Given the description of an element on the screen output the (x, y) to click on. 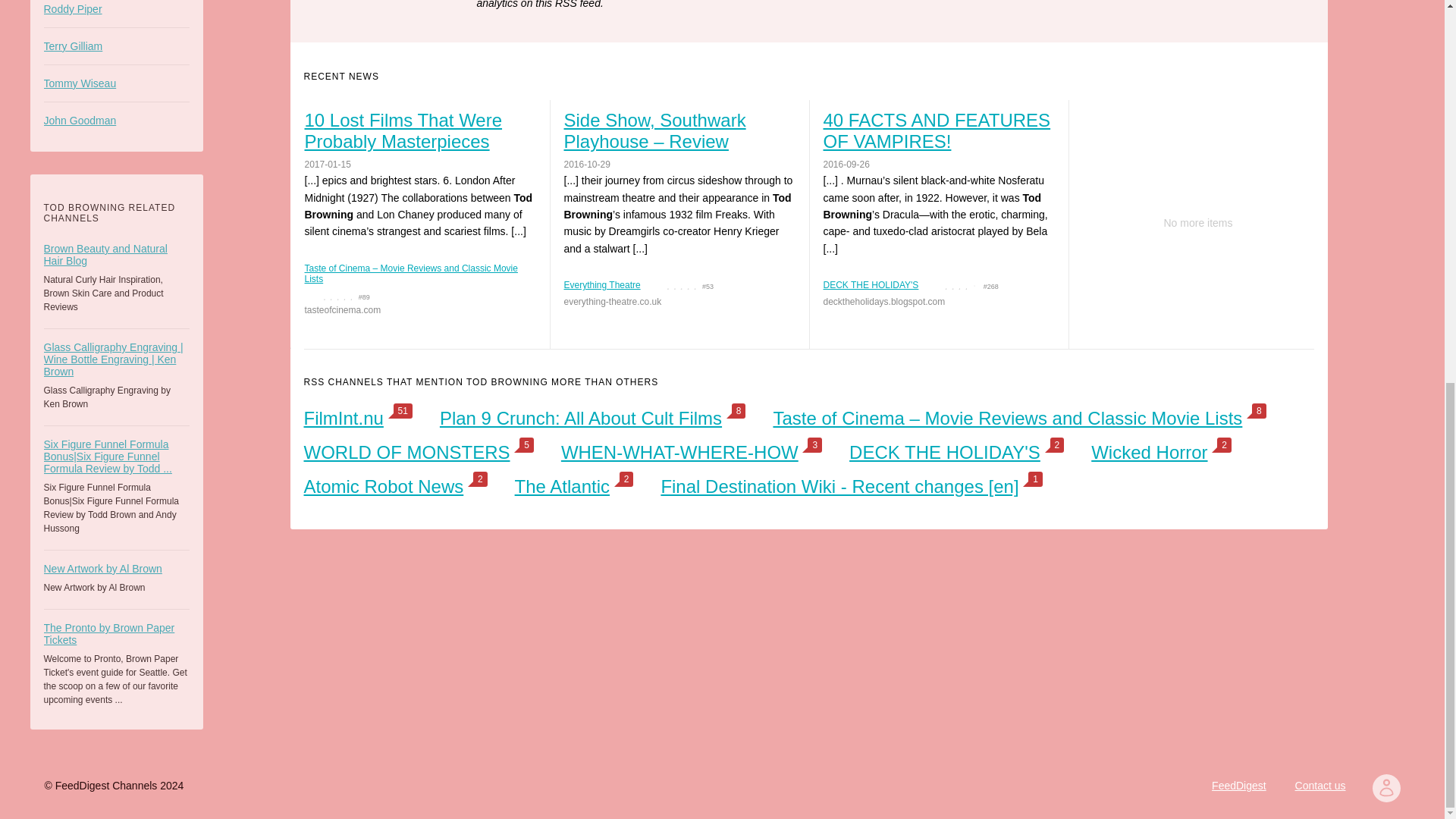
40 FACTS AND FEATURES OF VAMPIRES! (938, 130)
DECK THE HOLIDAY'S (871, 285)
WORLD OF MONSTERS (405, 452)
10 Lost Films That Were Probably Masterpieces (419, 130)
DECK THE HOLIDAY'S (944, 452)
FilmInt.nu (342, 417)
WHEN-WHAT-WHERE-HOW (678, 452)
Everything Theatre (602, 285)
Plan 9 Crunch: All About Cult Films (580, 417)
